Given the description of an element on the screen output the (x, y) to click on. 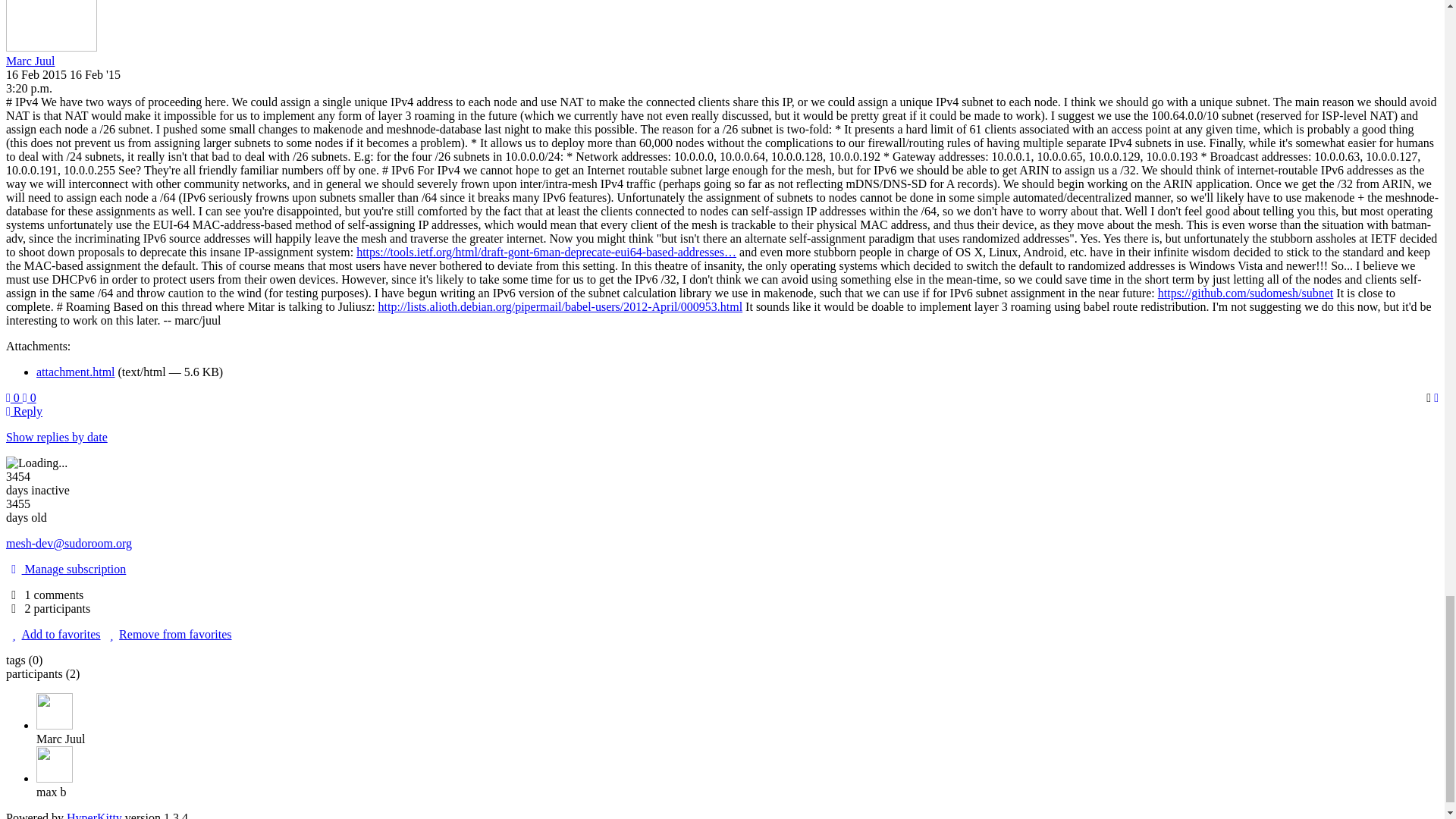
Sender's time: Feb. 16, 2015, 3:20 p.m. (28, 88)
See the profile for Marc Juul (30, 60)
You must be logged-in to vote. (29, 397)
Sign in to reply online (23, 410)
You must be logged-in to vote. (14, 397)
You must be logged-in to have favorites. (52, 634)
